Given the description of an element on the screen output the (x, y) to click on. 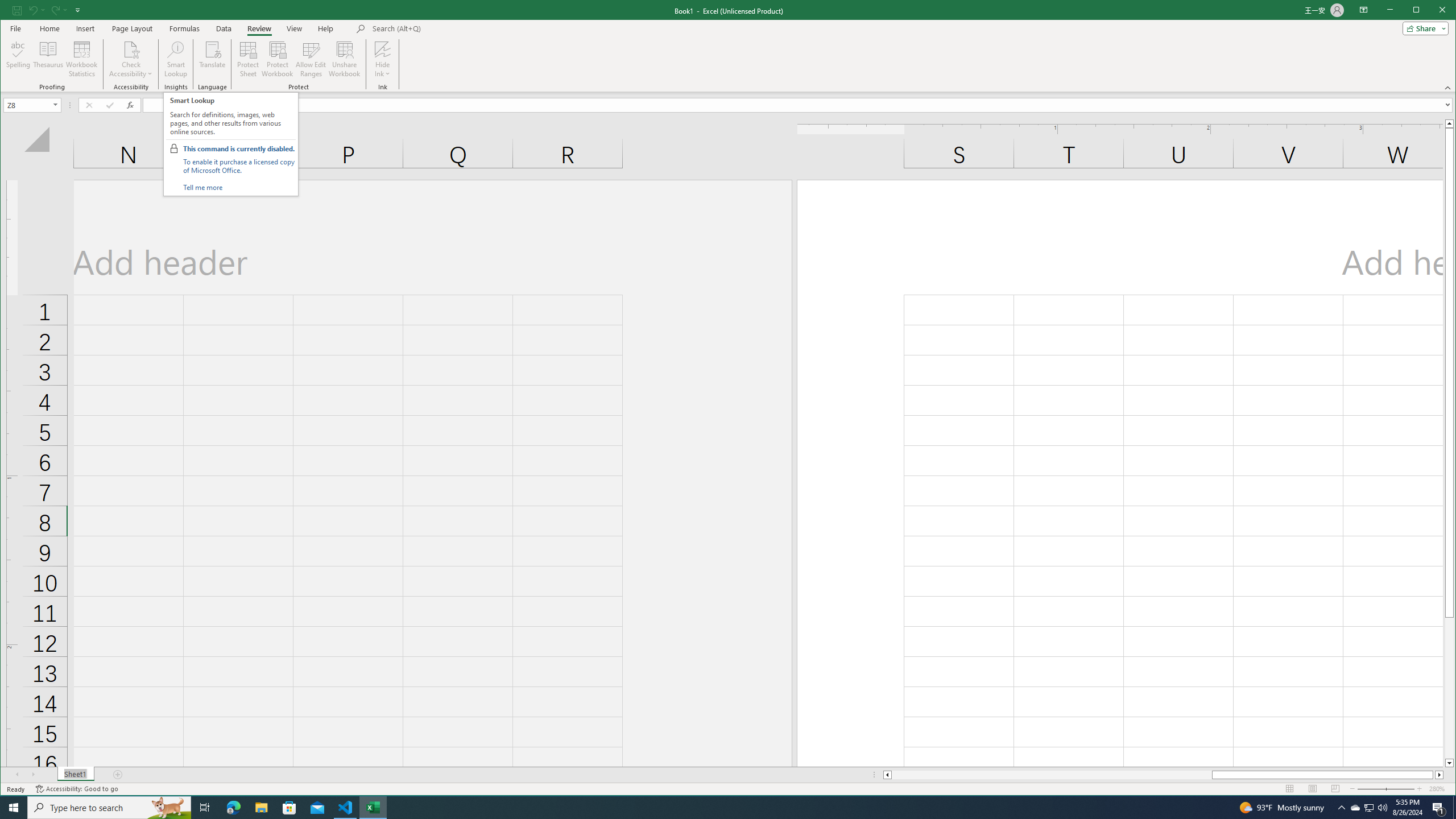
Running applications (717, 807)
Class: MsoCommandBar (728, 45)
Page left (1051, 774)
Check Accessibility (130, 48)
Formula Bar (799, 104)
Maximize (1432, 11)
Microsoft Edge (233, 807)
Visual Studio Code - 1 running window (345, 807)
